Given the description of an element on the screen output the (x, y) to click on. 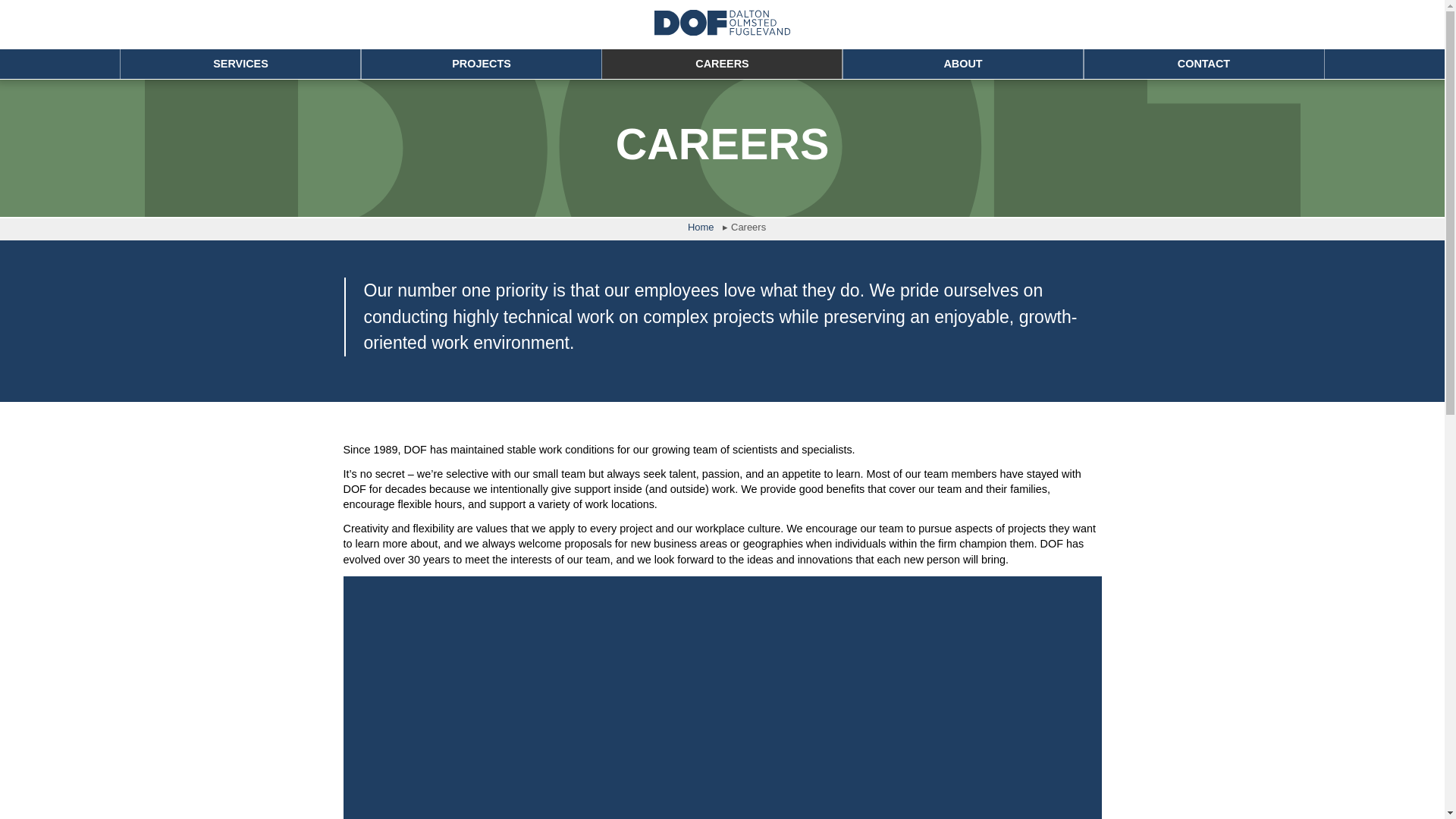
ABOUT (963, 63)
CONTACT (1203, 63)
PROJECTS (481, 63)
Home (700, 229)
CAREERS (722, 63)
SERVICES (240, 63)
